Given the description of an element on the screen output the (x, y) to click on. 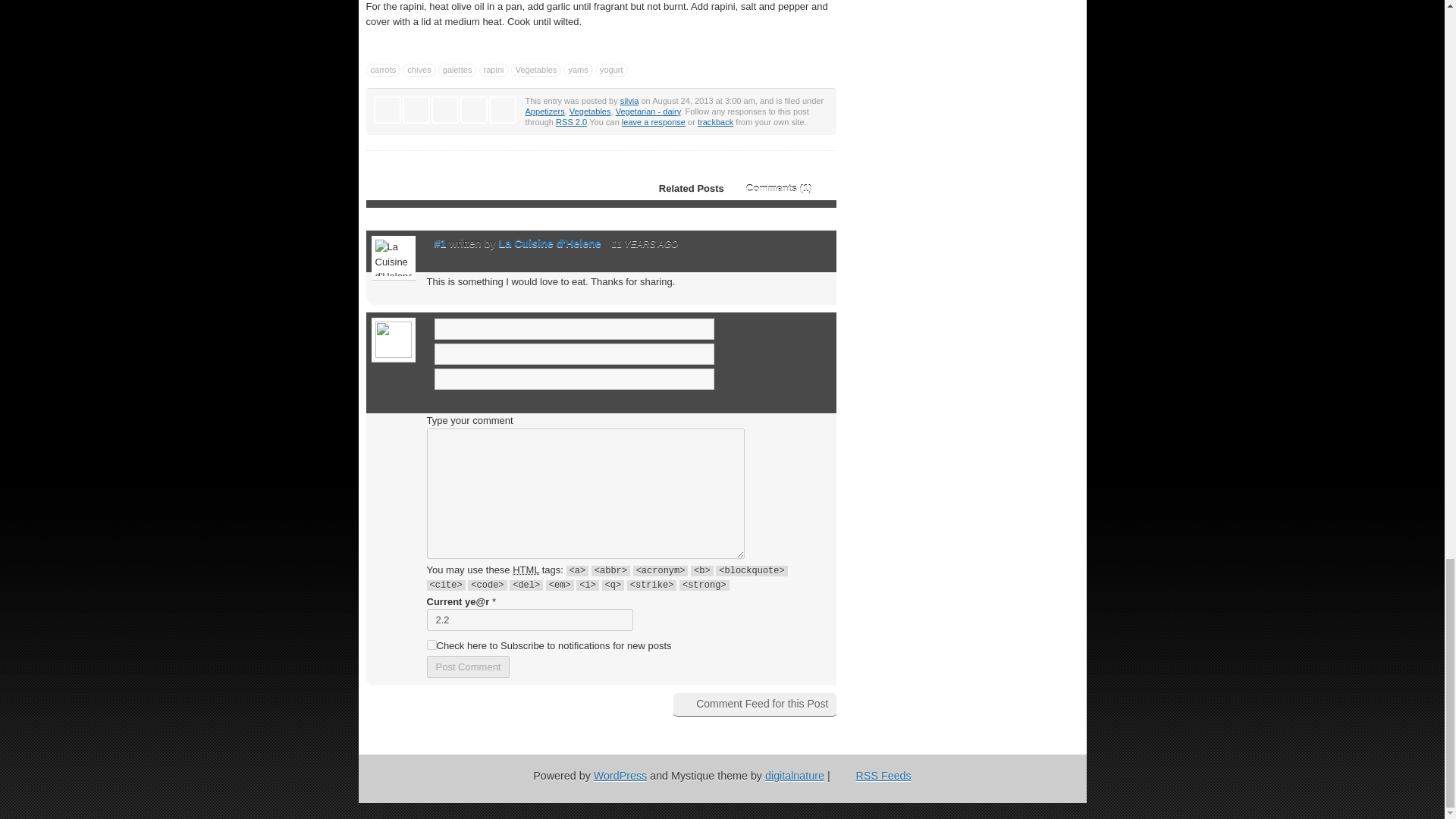
Share this post on Twitter (386, 109)
Post Comment (467, 667)
2.2 (528, 619)
yogurt (611, 69)
Related Posts (682, 187)
Vegetables (590, 111)
silvia (629, 100)
Vegetables (536, 69)
Share this post on Digg (415, 109)
La Cuisine d'Helene (550, 243)
